Given the description of an element on the screen output the (x, y) to click on. 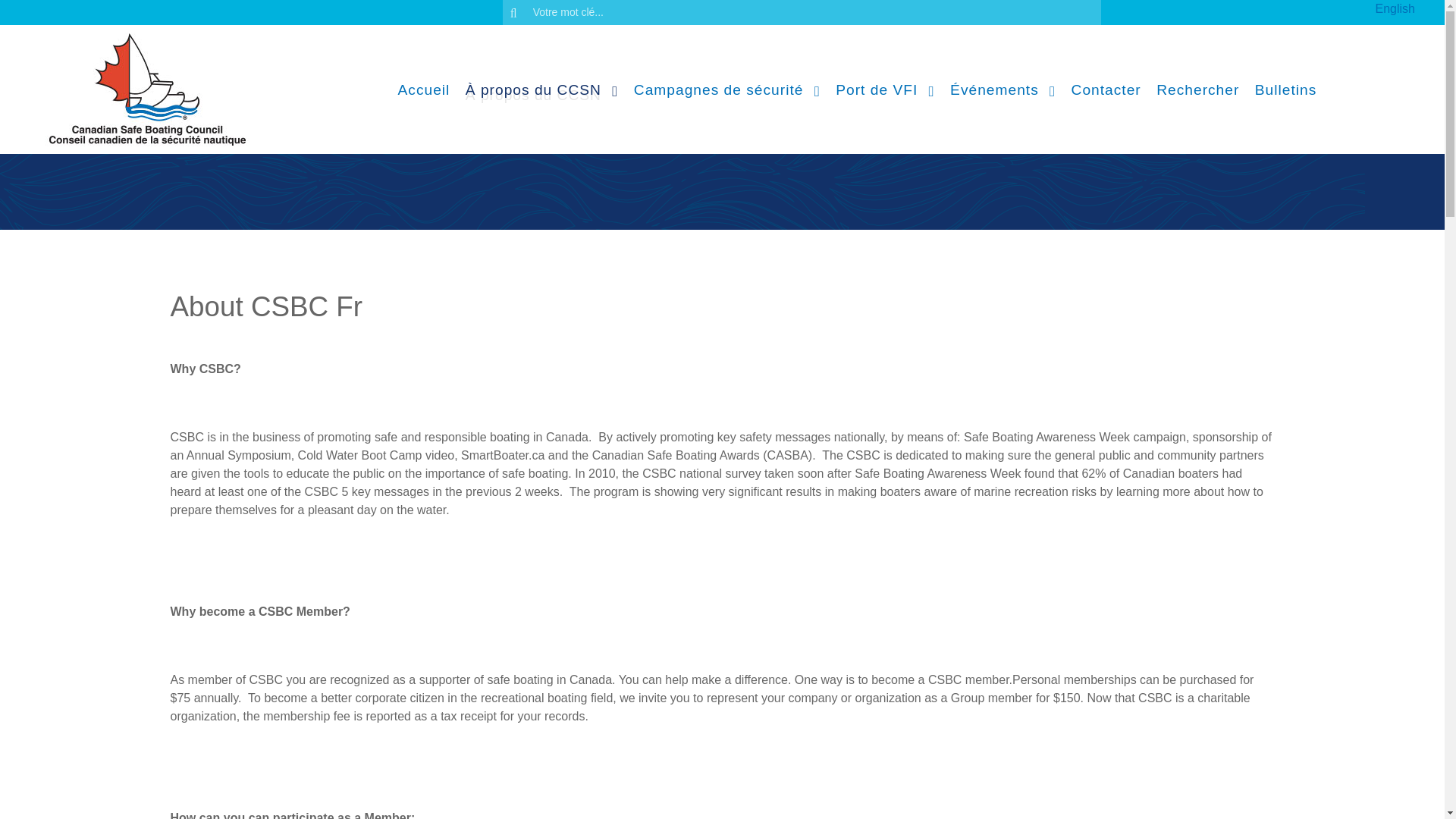
Port de VFI (884, 89)
English (1395, 8)
Accueil (423, 89)
Search (801, 12)
